Given the description of an element on the screen output the (x, y) to click on. 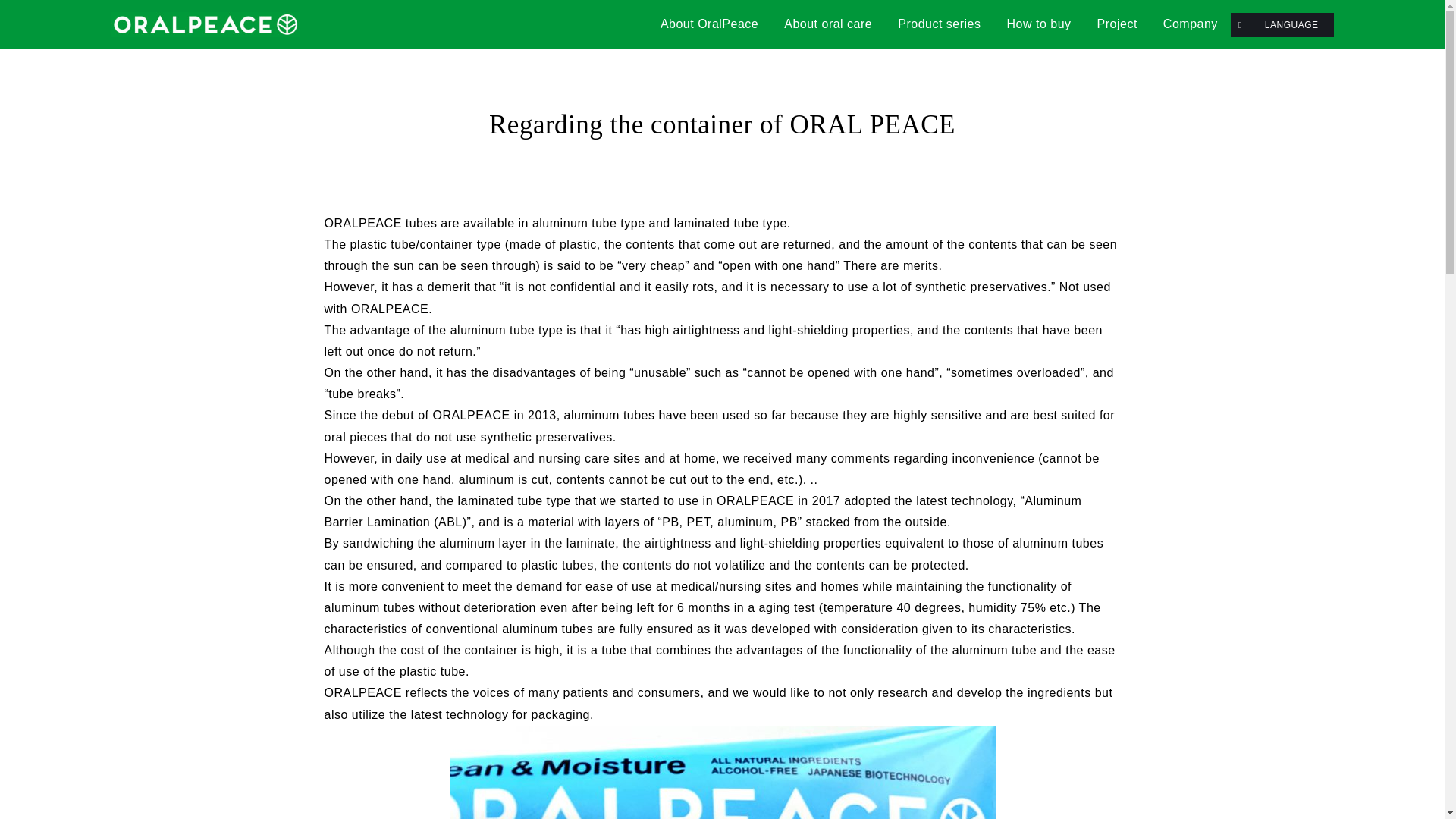
LANGUAGE (1281, 24)
Company (1190, 24)
About oral care (828, 24)
Project (1117, 24)
About OralPeace (709, 24)
How to buy (1039, 24)
Product series (938, 24)
